Given the description of an element on the screen output the (x, y) to click on. 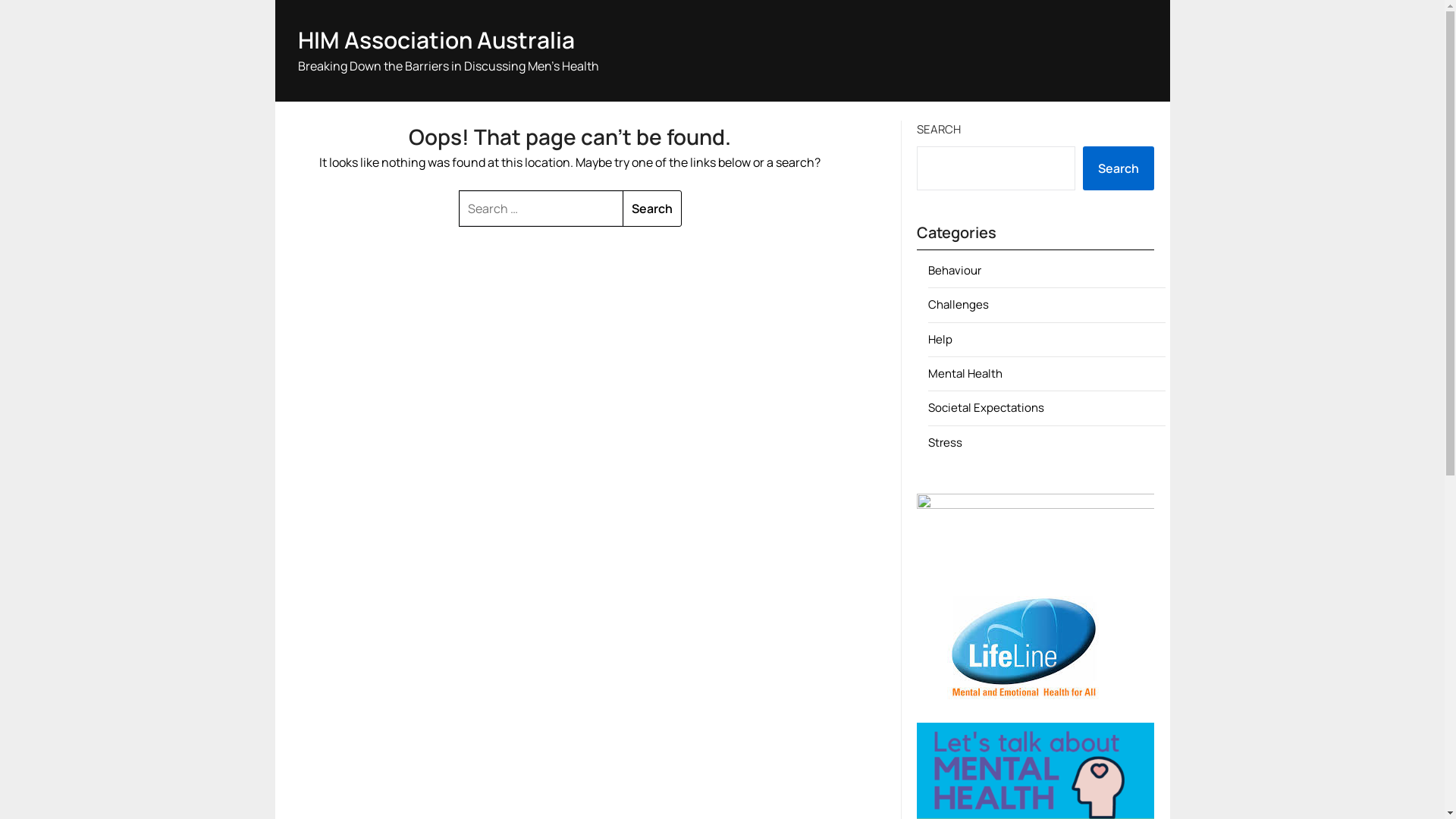
Behaviour Element type: text (954, 270)
Mental Health Element type: text (965, 373)
Help Element type: text (940, 339)
Challenges Element type: text (958, 304)
HIM Association Australia Element type: text (435, 39)
Search Element type: text (1118, 168)
Stress Element type: text (945, 442)
Societal Expectations Element type: text (986, 407)
Search Element type: text (651, 208)
